Given the description of an element on the screen output the (x, y) to click on. 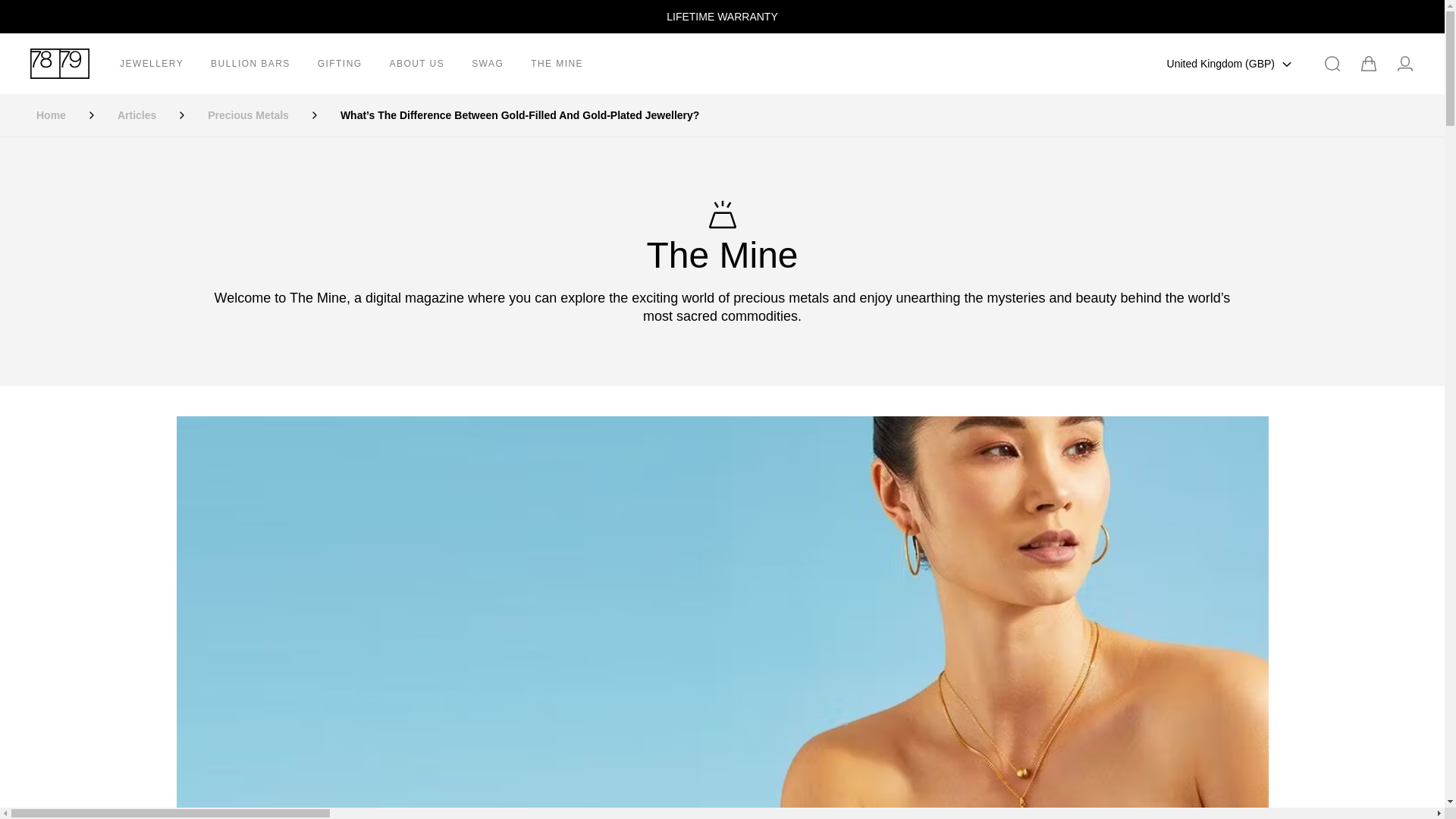
Home (50, 114)
BULLION BARS (250, 63)
Precious Metals (248, 114)
ABOUT US (417, 63)
SWAG (487, 63)
JEWELLERY (151, 63)
The Mine (721, 237)
GIFTING (339, 63)
THE MINE (556, 63)
Articles (136, 114)
